Given the description of an element on the screen output the (x, y) to click on. 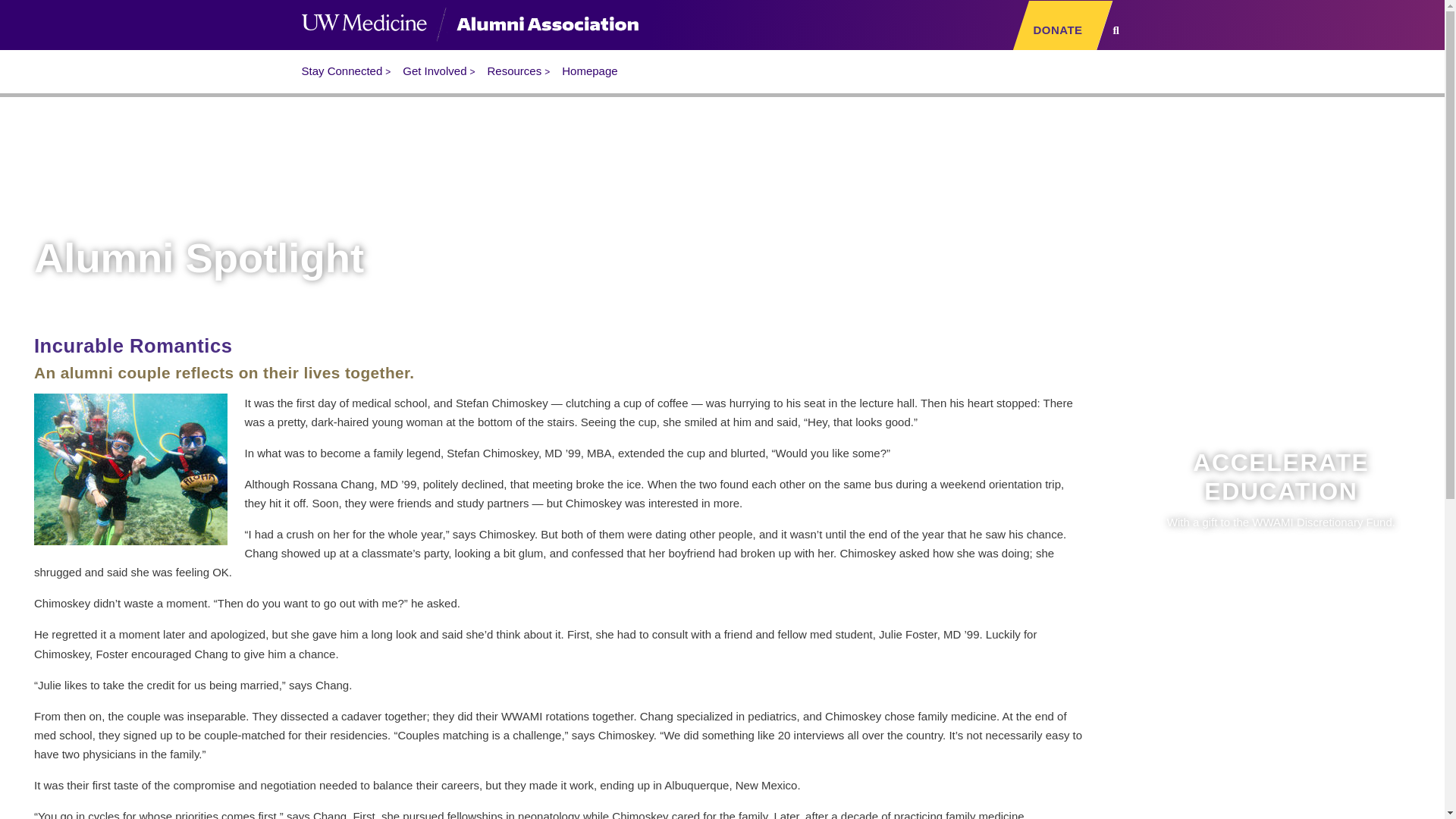
Get Involved (437, 71)
DONATE (1058, 29)
Stay Connected (344, 71)
